Given the description of an element on the screen output the (x, y) to click on. 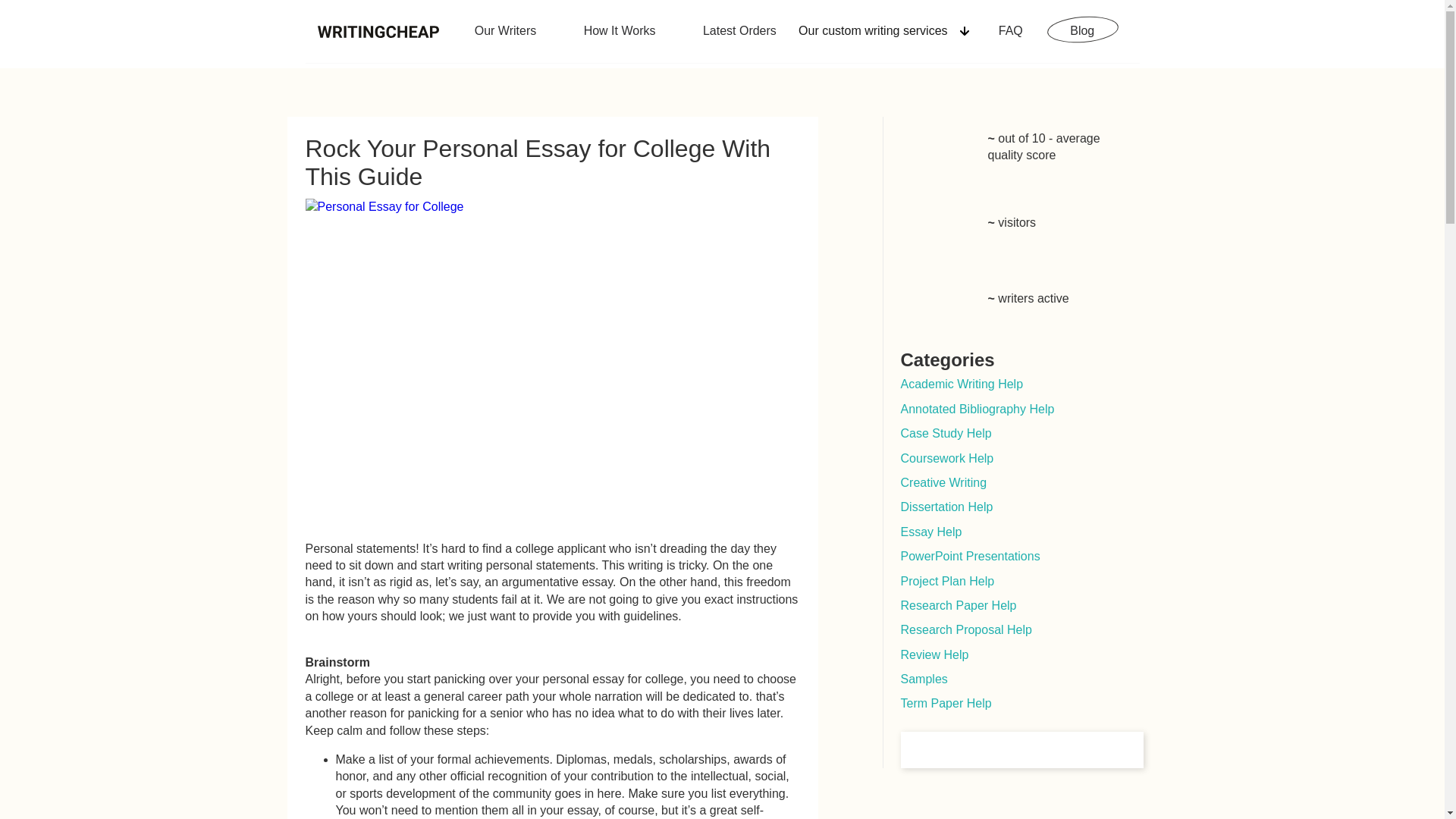
Project Plan Help (947, 581)
Dissertation Help (946, 506)
FAQ (1009, 31)
Coursework Help (947, 458)
Latest Orders (737, 31)
Annotated Bibliography Help (977, 408)
Home page (377, 30)
Academic Writing Help (962, 383)
Case Study Help (946, 432)
Blog (1080, 31)
